Given the description of an element on the screen output the (x, y) to click on. 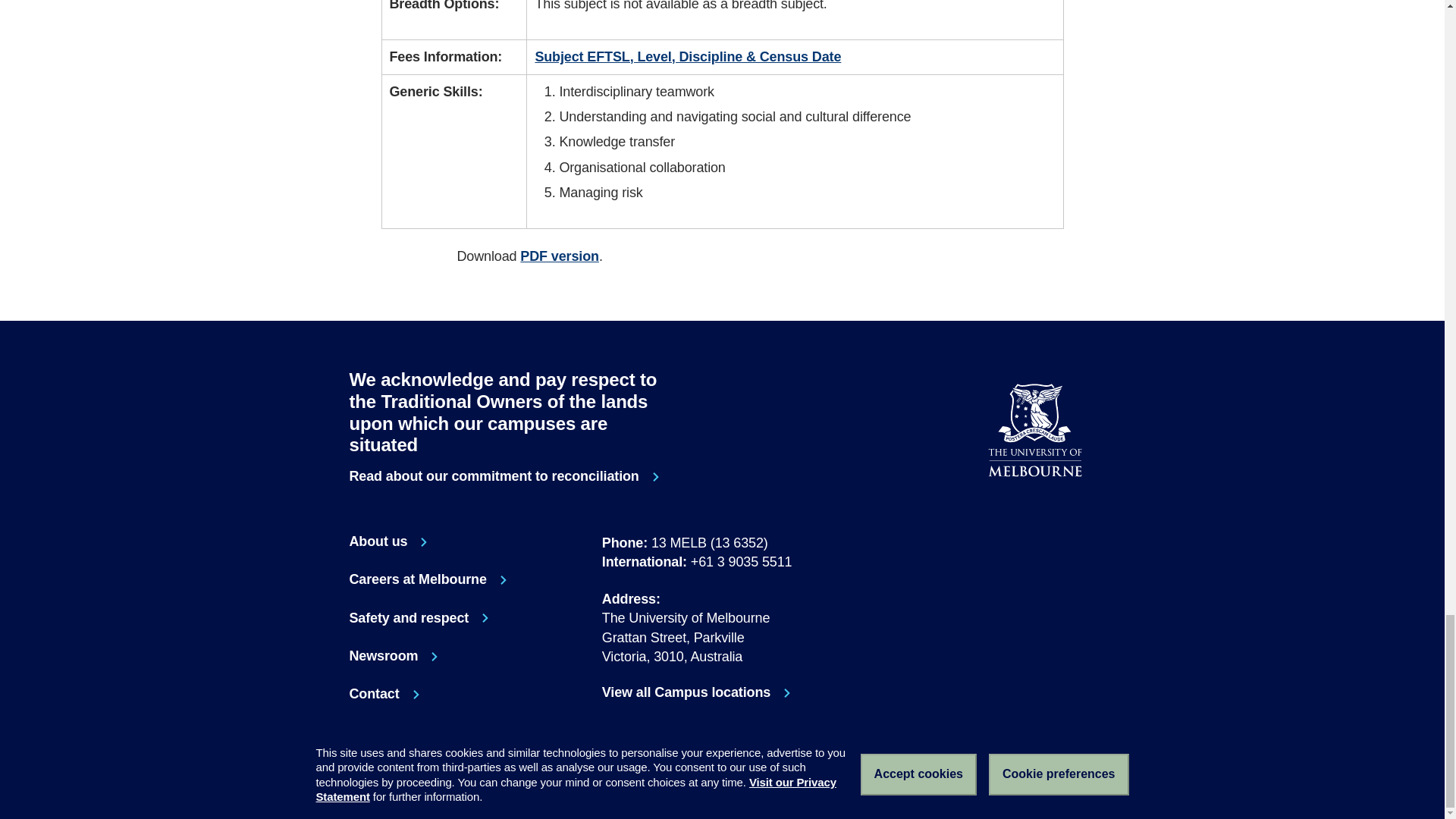
PDF version (558, 255)
Read about our commitment to reconciliation (506, 476)
Privacy (1079, 514)
Accessibility (605, 785)
View all Campus locations (1018, 514)
Safety and respect (542, 785)
Contact (722, 692)
Newsroom (988, 514)
Careers at Melbourne (419, 618)
About us (384, 694)
Emergency (394, 656)
